Given the description of an element on the screen output the (x, y) to click on. 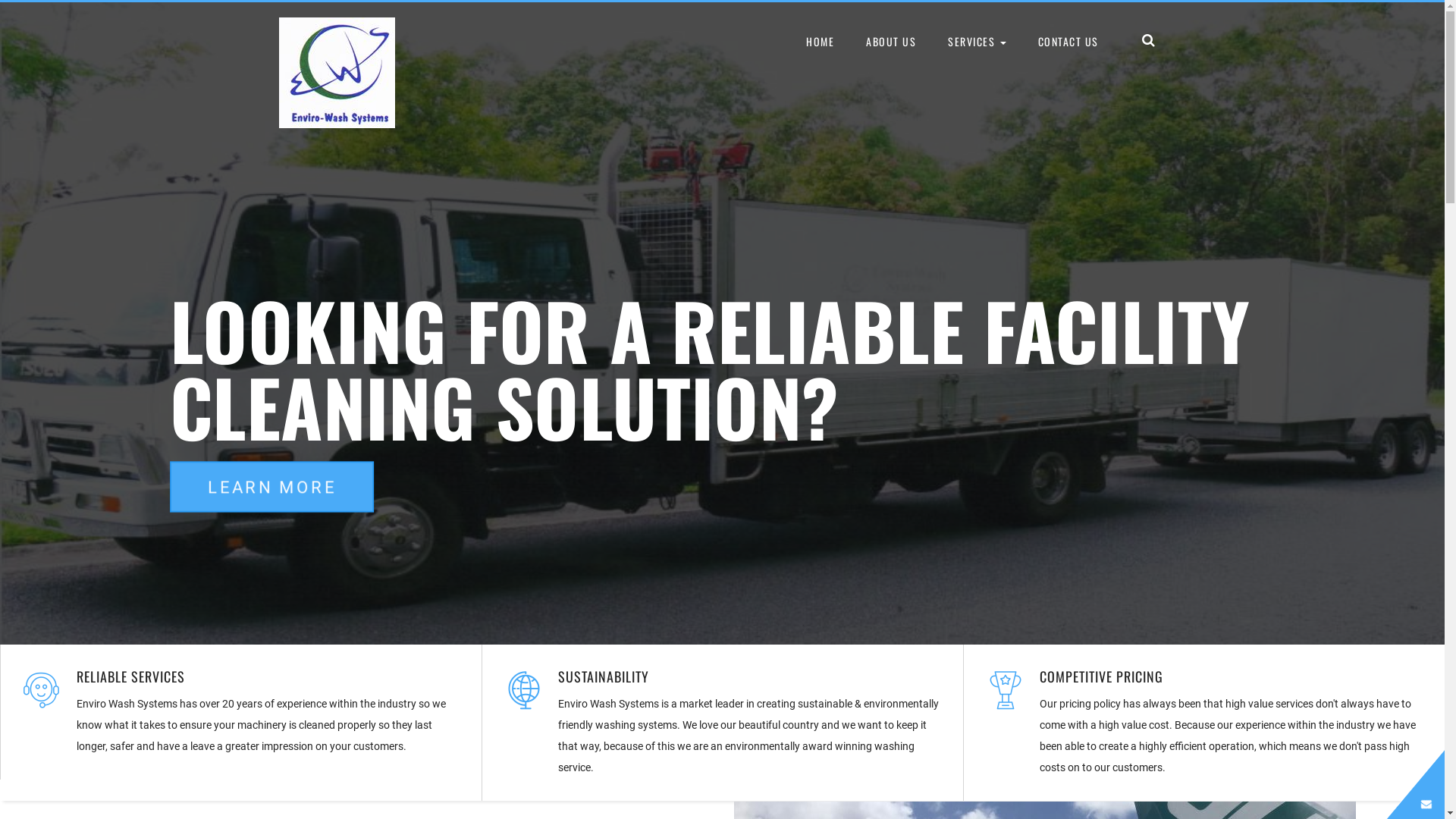
CONTACT US Element type: text (1067, 41)
HOME Element type: text (819, 41)
LEARN MORE Element type: text (233, 476)
ABOUT US Element type: text (890, 41)
SERVICES Element type: text (976, 41)
